Given the description of an element on the screen output the (x, y) to click on. 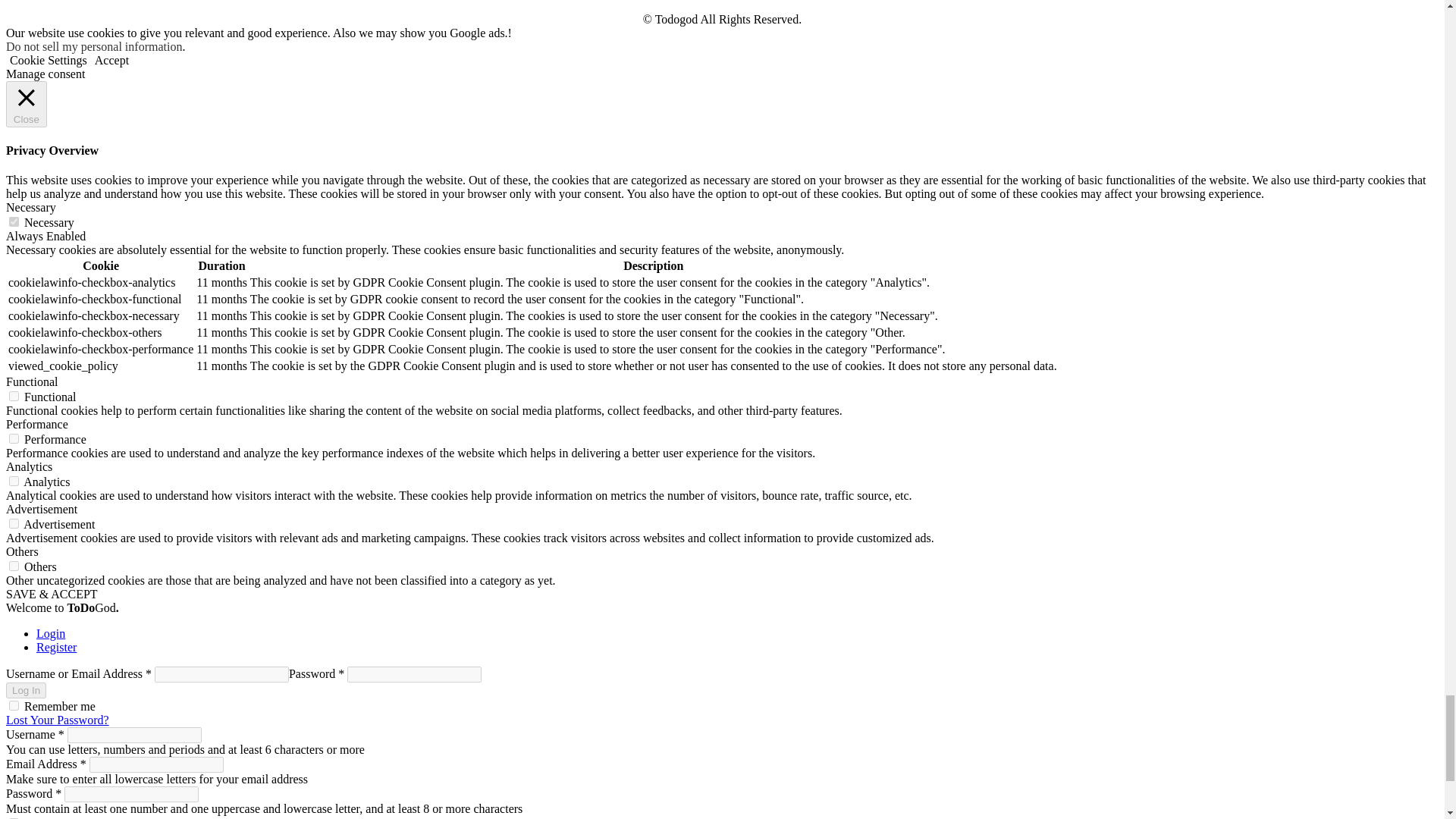
on (13, 480)
on (13, 221)
on (13, 396)
on (13, 523)
on (13, 565)
on (13, 438)
true (13, 705)
